Given the description of an element on the screen output the (x, y) to click on. 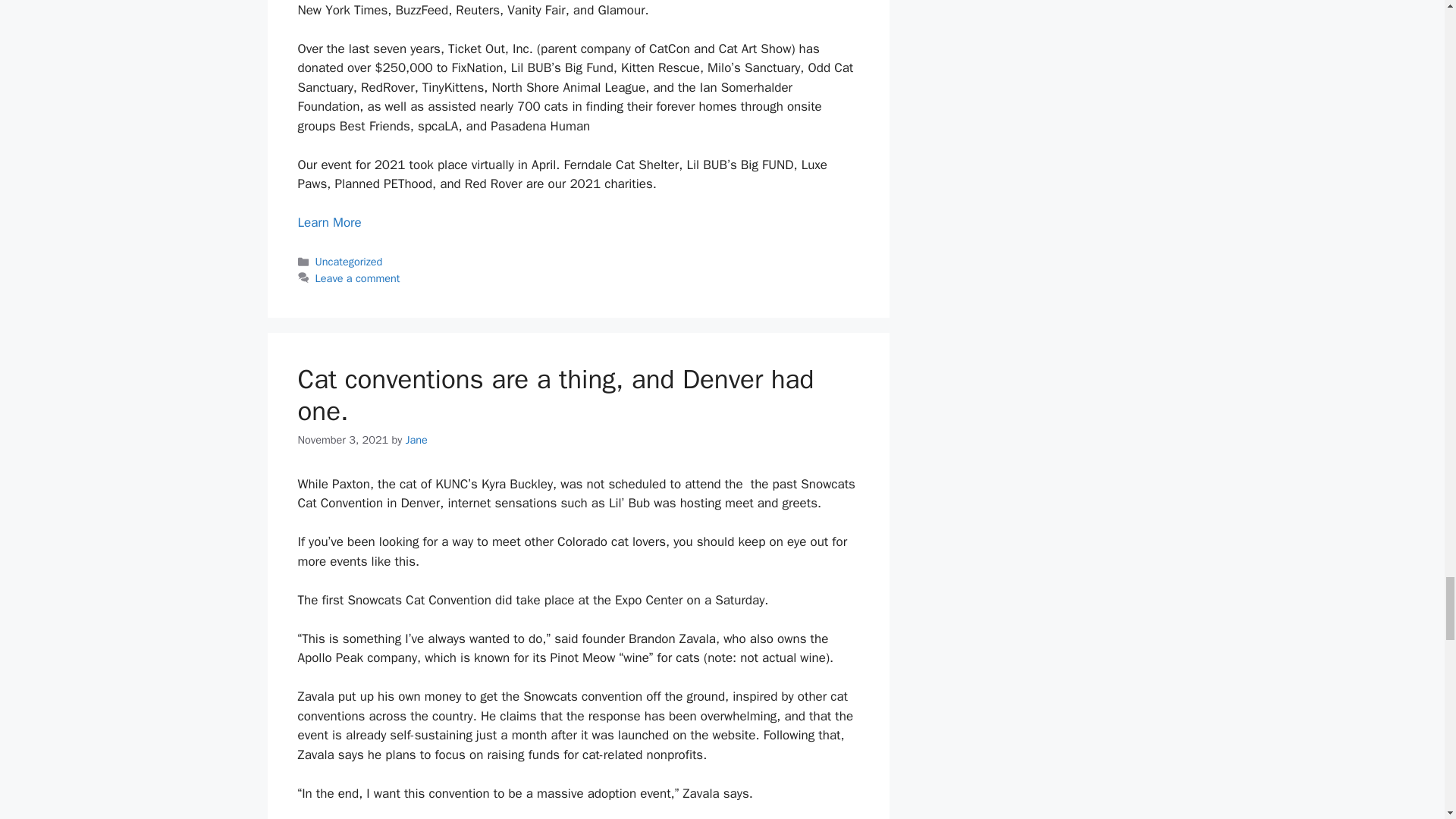
Learn More (329, 222)
Uncategorized (348, 261)
View all posts by Jane (417, 439)
